Given the description of an element on the screen output the (x, y) to click on. 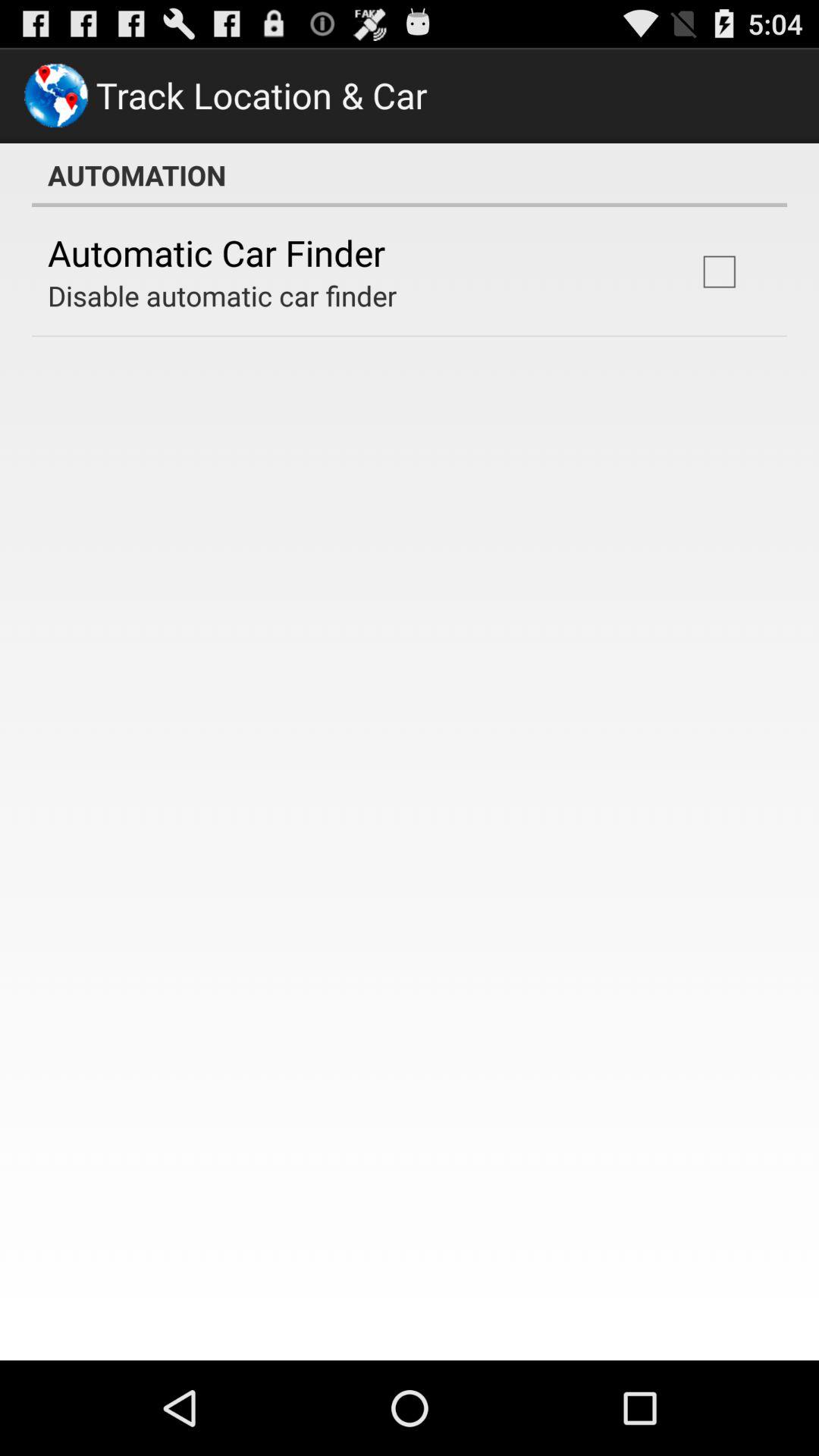
click automation app (409, 175)
